Given the description of an element on the screen output the (x, y) to click on. 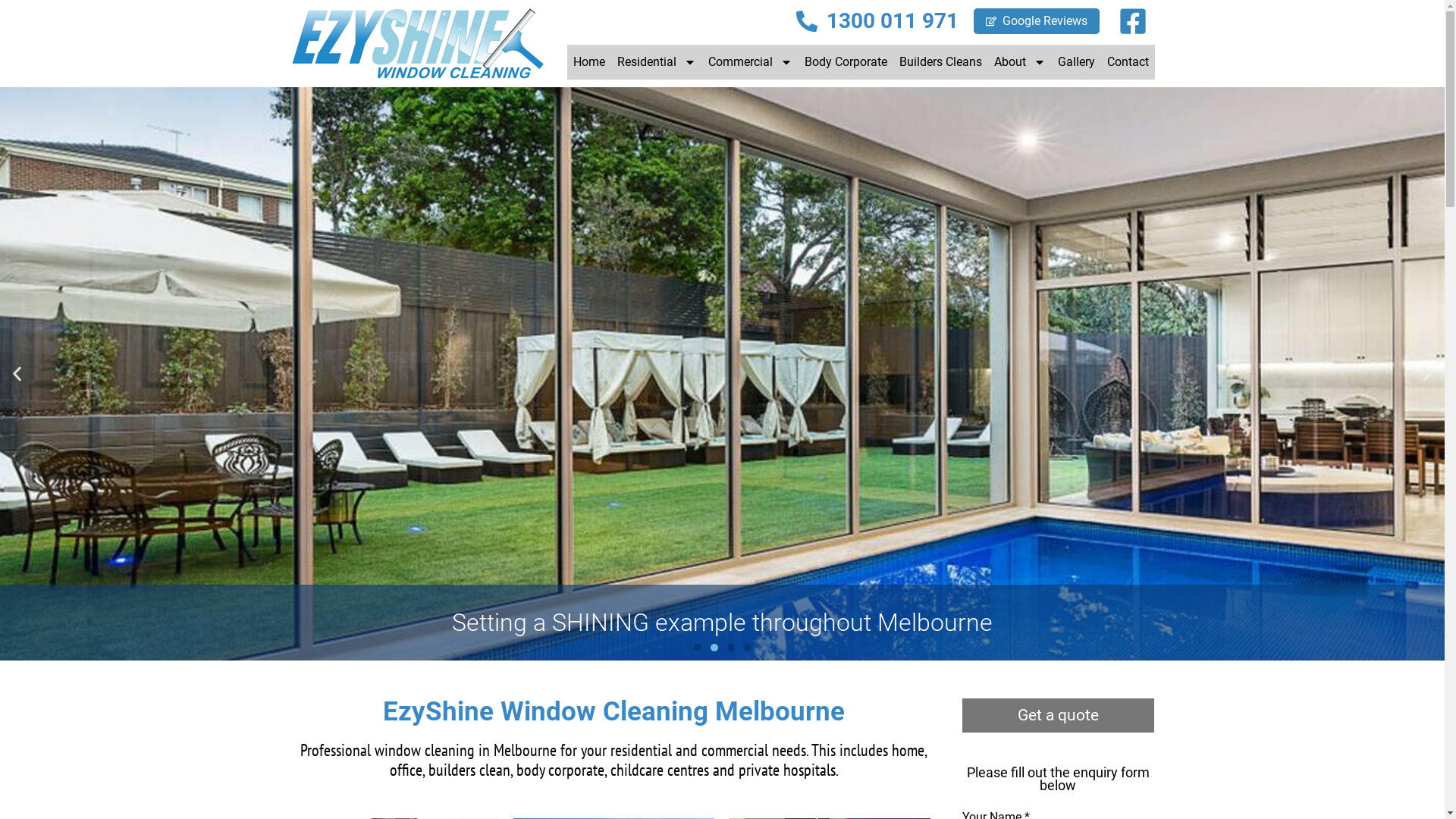
Google Reviews Element type: text (1036, 21)
Residential Element type: text (656, 61)
Body Corporate Element type: text (844, 61)
Builders Cleans Element type: text (940, 61)
Gallery Element type: text (1075, 61)
About Element type: text (1019, 61)
Commercial Element type: text (750, 61)
Home Element type: text (589, 61)
1300 011 971 Element type: text (877, 21)
Contact Element type: text (1127, 61)
Get a quote Element type: text (1058, 715)
